Given the description of an element on the screen output the (x, y) to click on. 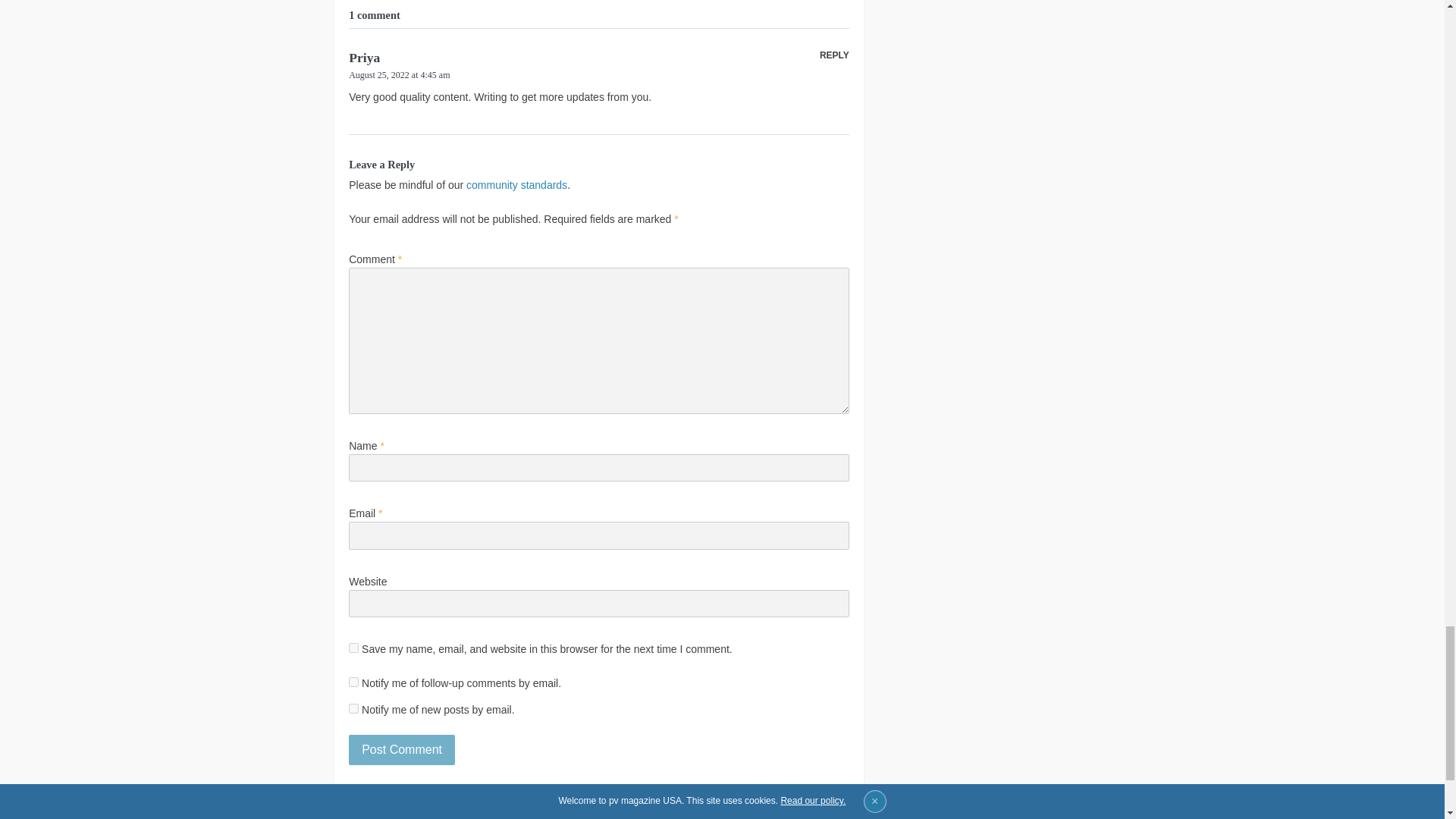
subscribe (353, 682)
Post Comment (401, 749)
subscribe (353, 708)
yes (353, 647)
